Given the description of an element on the screen output the (x, y) to click on. 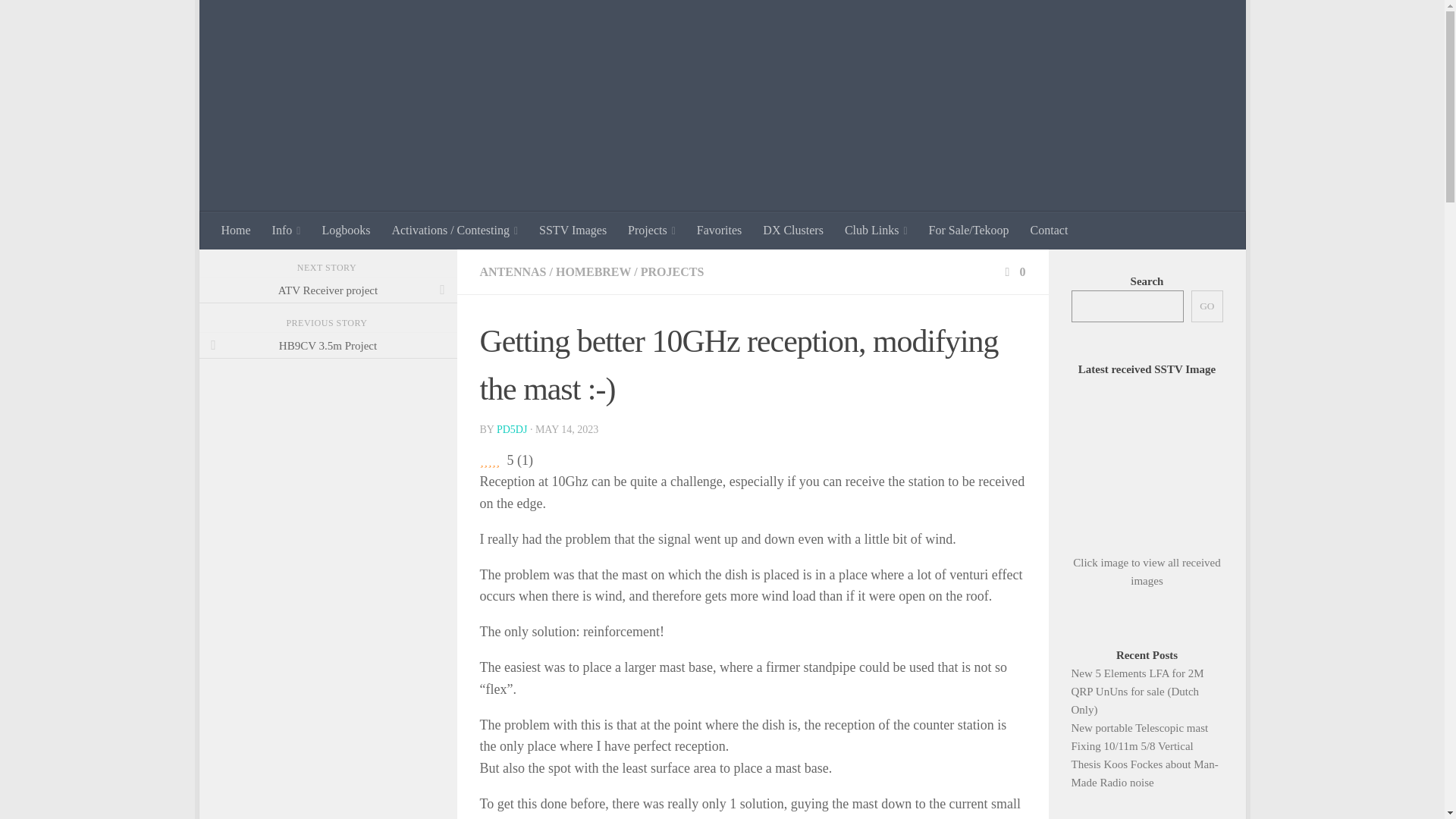
Posts by pd5dj (511, 428)
Home (236, 230)
Skip to content (258, 20)
Info (286, 230)
